Given the description of an element on the screen output the (x, y) to click on. 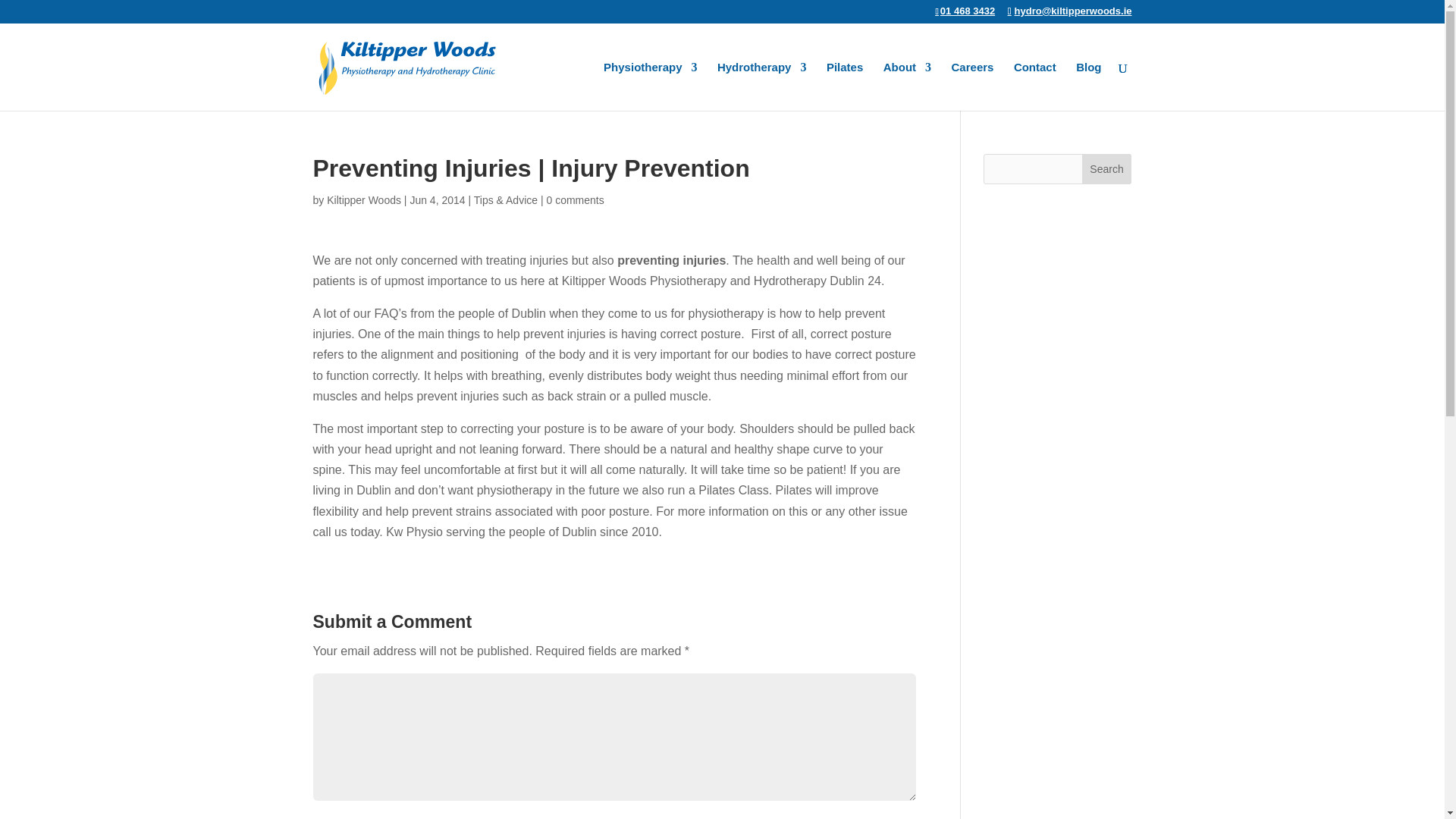
Hydrotherapy (761, 86)
Posts by Kiltipper Woods (363, 200)
Physiotherapy (650, 86)
01 468 3432 (969, 10)
About (907, 86)
